Given the description of an element on the screen output the (x, y) to click on. 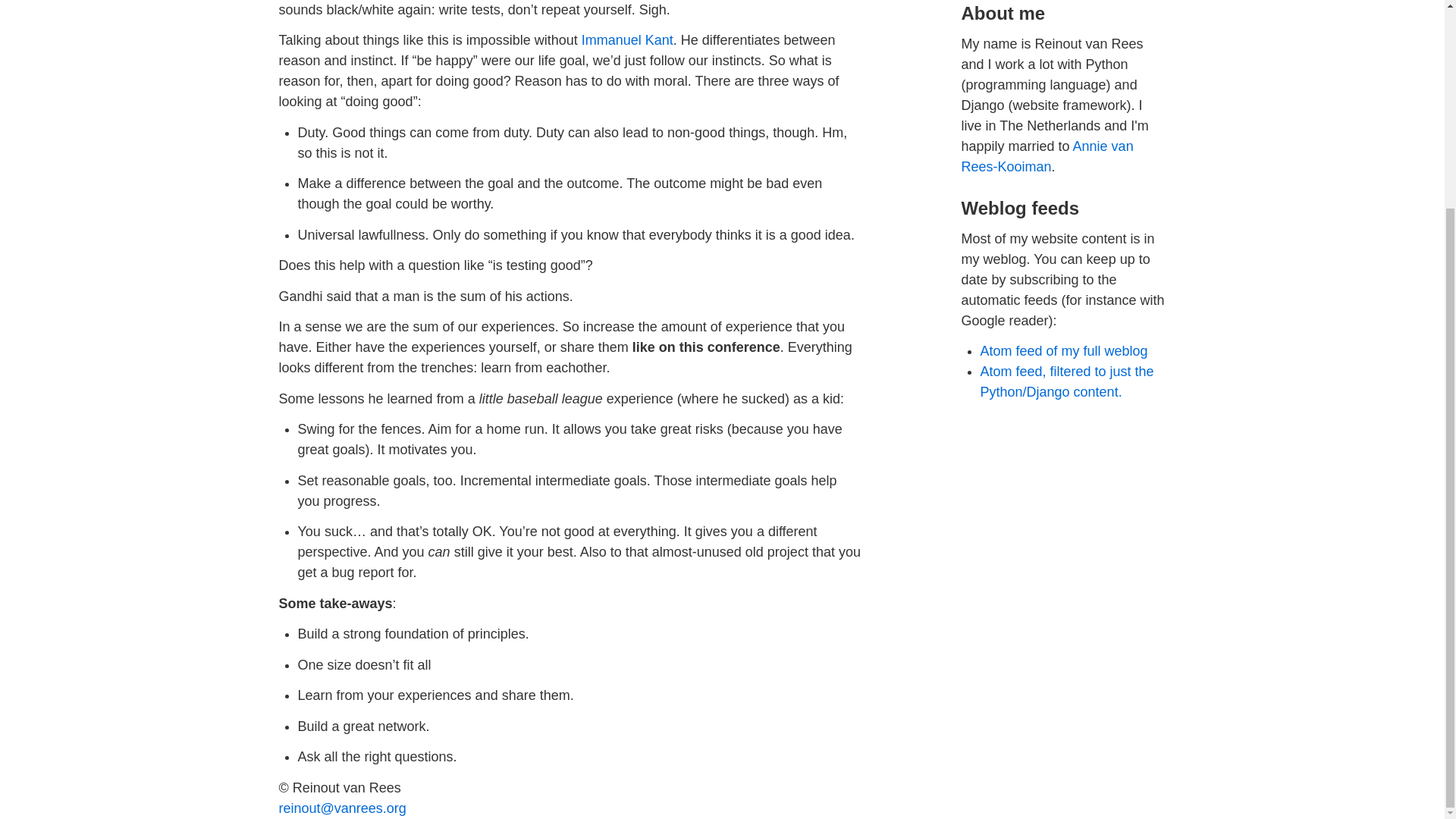
Atom feed of my full weblog (1063, 350)
Annie van Rees-Kooiman (1047, 156)
Immanuel Kant (626, 39)
